Given the description of an element on the screen output the (x, y) to click on. 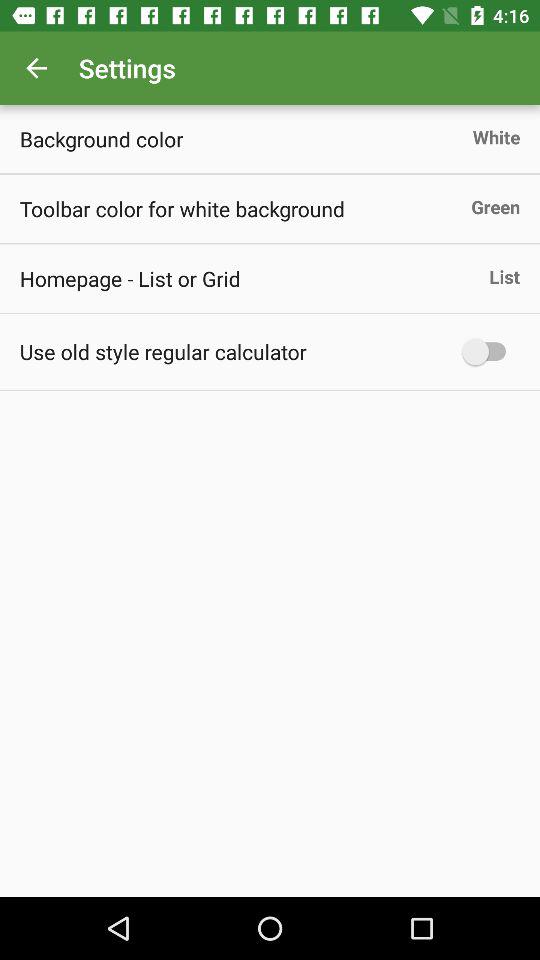
open the item next to the use old style (488, 351)
